Given the description of an element on the screen output the (x, y) to click on. 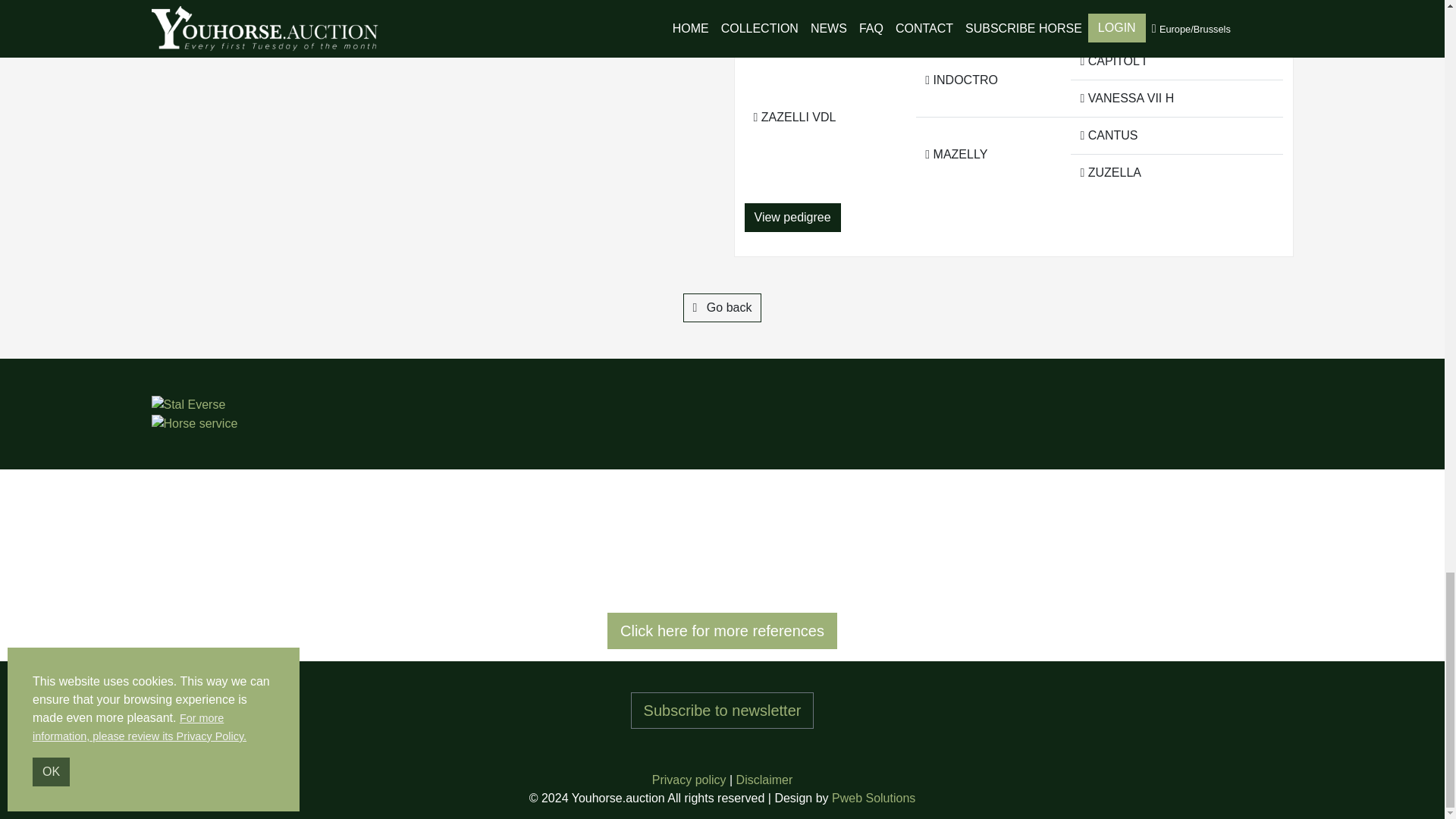
Go back (721, 307)
Privacy policy (689, 779)
Click here for more references (722, 630)
View pedigree (792, 217)
Pweb Solutions (873, 797)
Disclaimer (764, 779)
Subscribe to newsletter (721, 710)
